Given the description of an element on the screen output the (x, y) to click on. 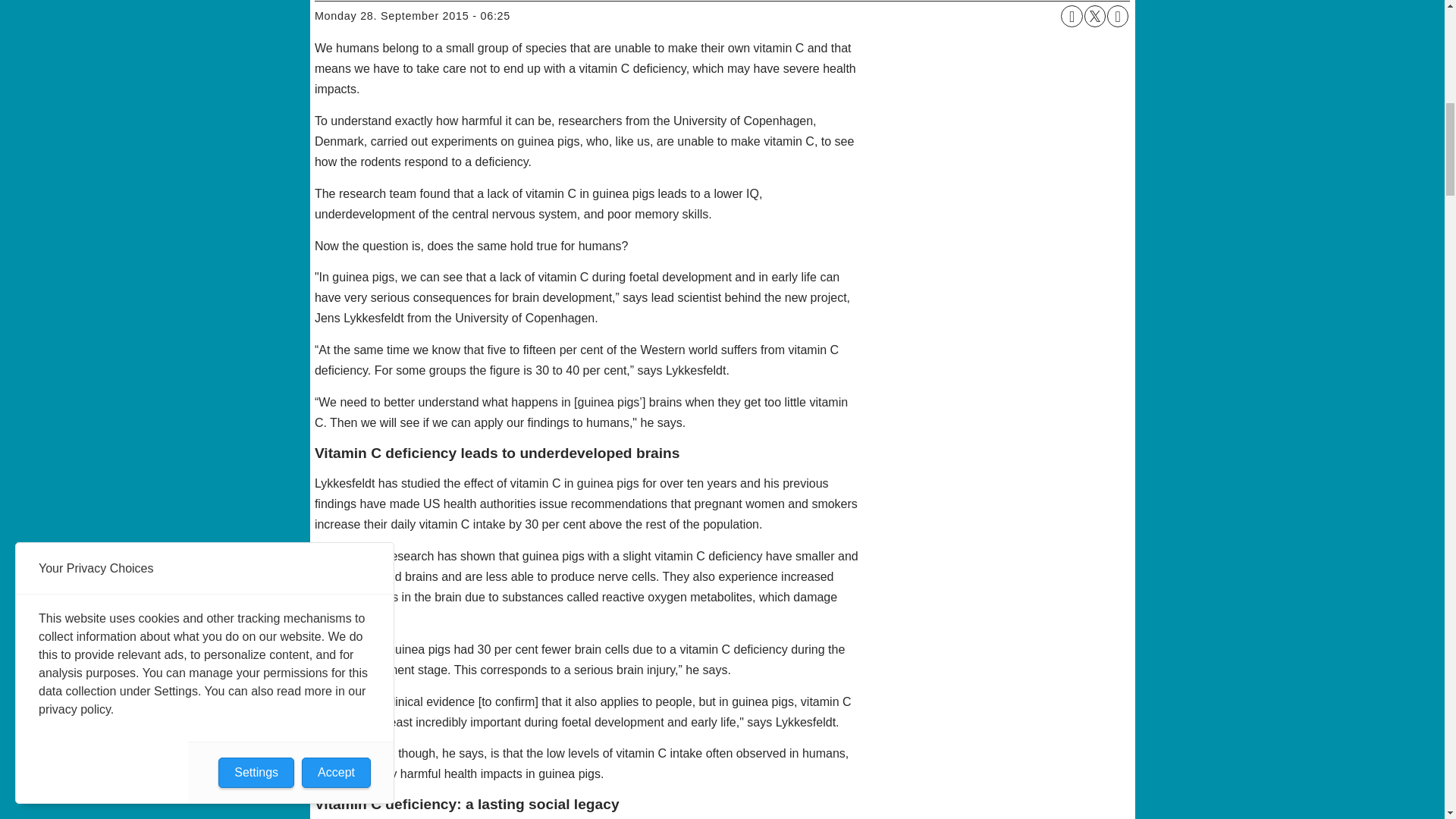
 monday 28. September 2015 - 06:25 (412, 15)
